Given the description of an element on the screen output the (x, y) to click on. 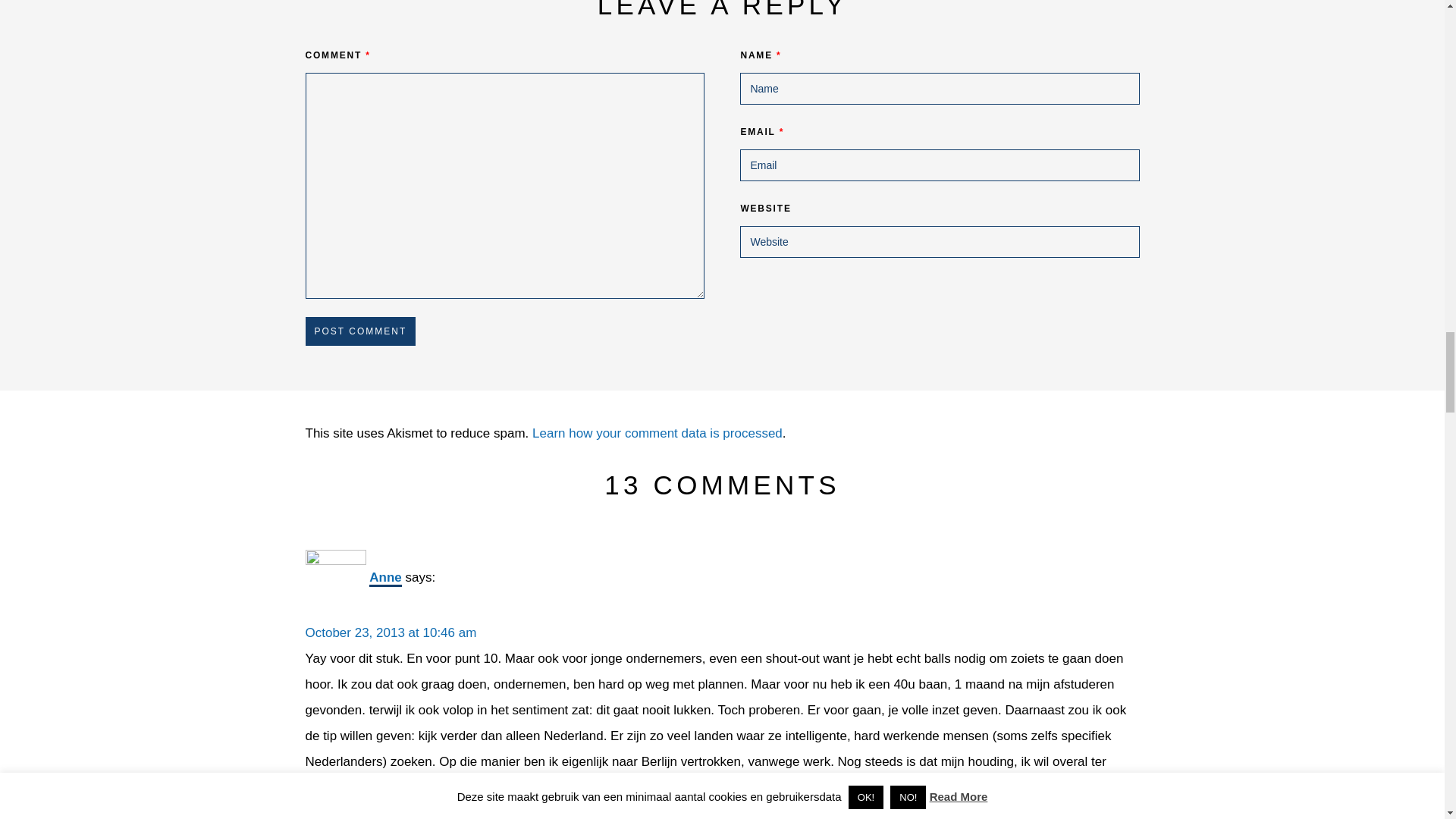
Learn how your comment data is processed (657, 432)
October 23, 2013 at 10:46 am (390, 632)
Post Comment (359, 330)
Anne (385, 578)
Post Comment (359, 330)
